Given the description of an element on the screen output the (x, y) to click on. 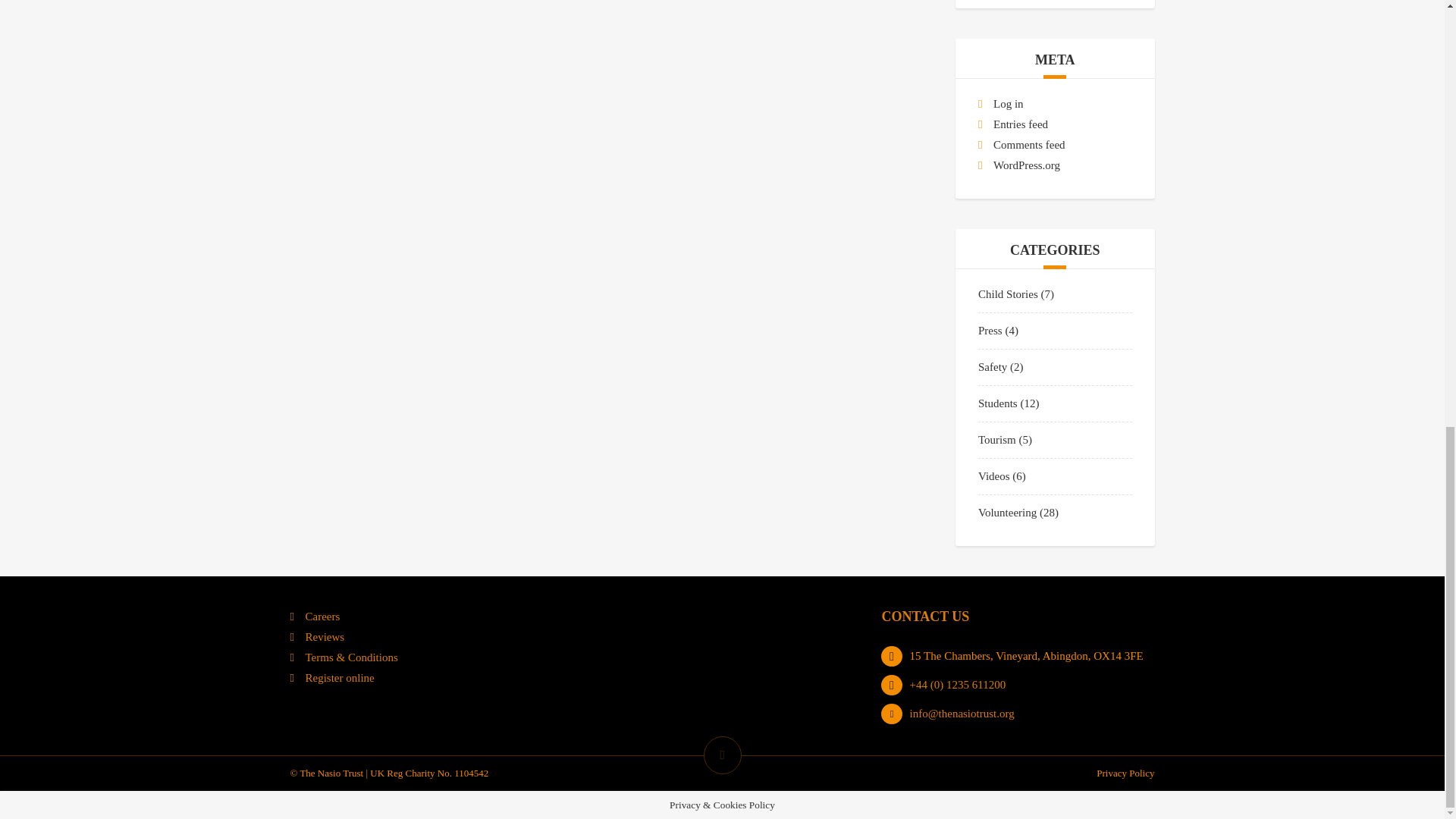
Child Stories (1008, 294)
WordPress.org (1025, 164)
Press (990, 330)
Comments feed (1028, 144)
Entries feed (1020, 123)
Log in (1007, 103)
